Given the description of an element on the screen output the (x, y) to click on. 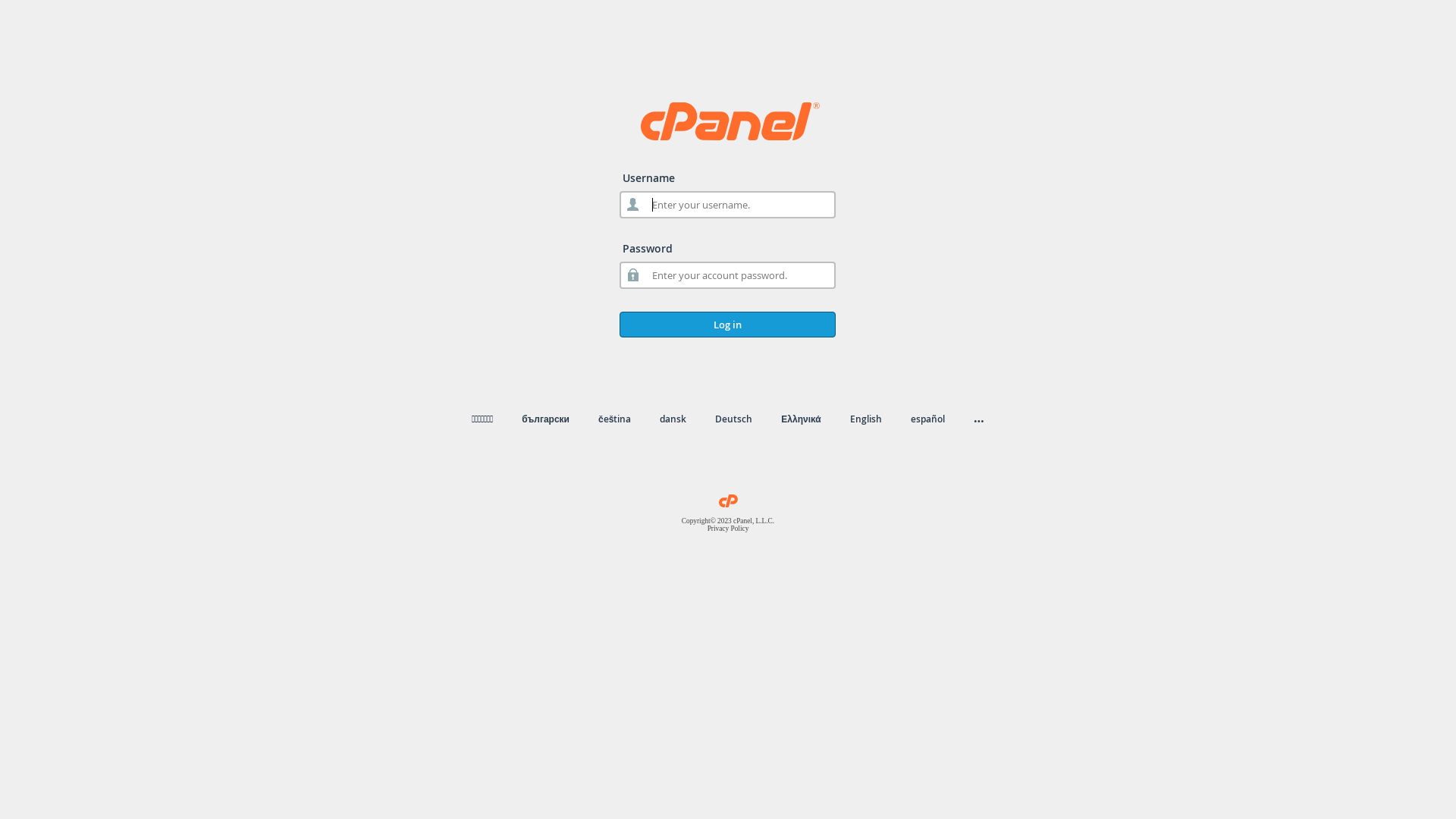
dansk Element type: text (672, 418)
Deutsch Element type: text (733, 418)
English Element type: text (865, 418)
Log in Element type: text (727, 324)
Privacy Policy Element type: text (728, 528)
